Given the description of an element on the screen output the (x, y) to click on. 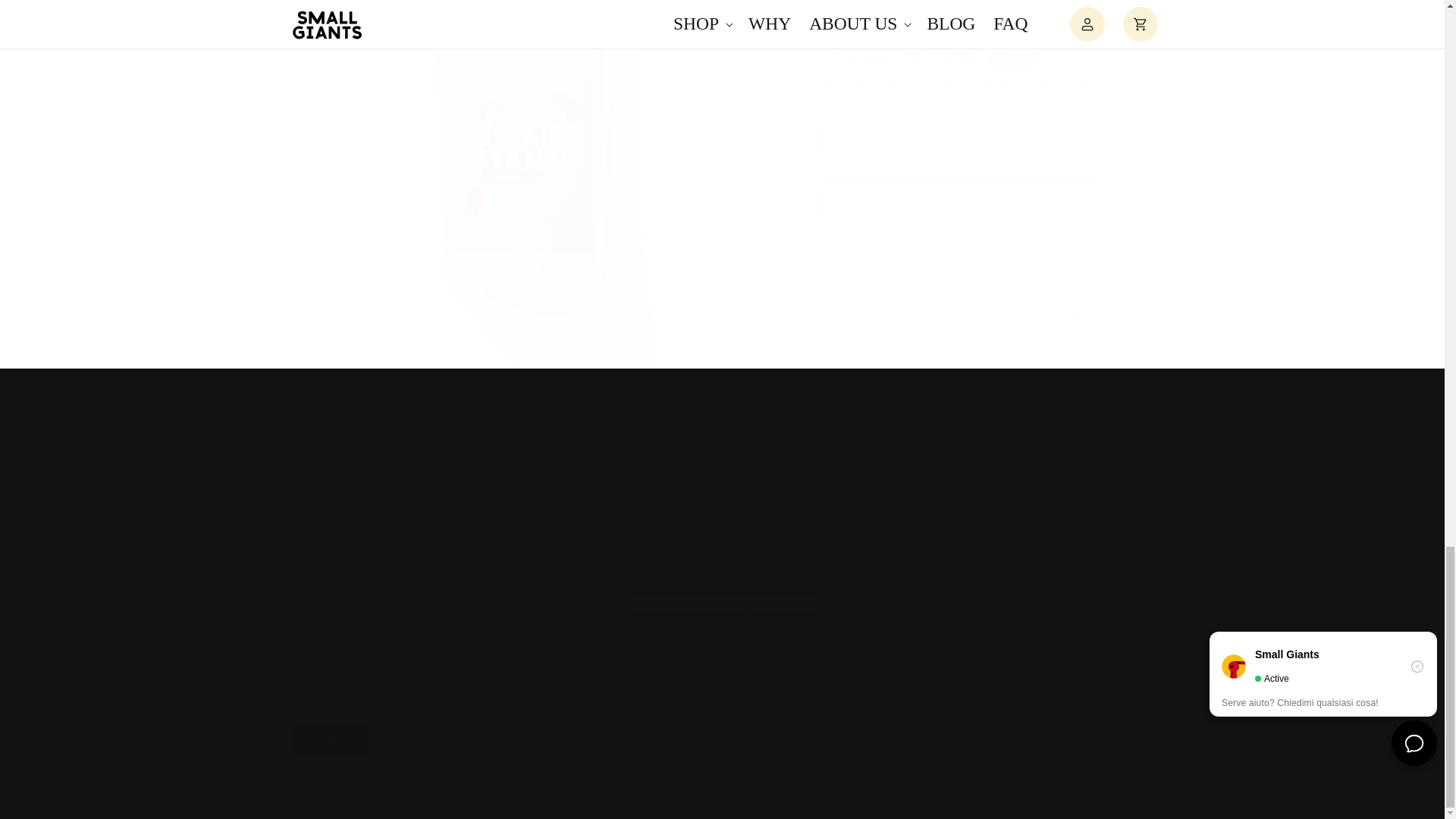
1 (874, 142)
Open media 1 in modal window (1053, 506)
